Given the description of an element on the screen output the (x, y) to click on. 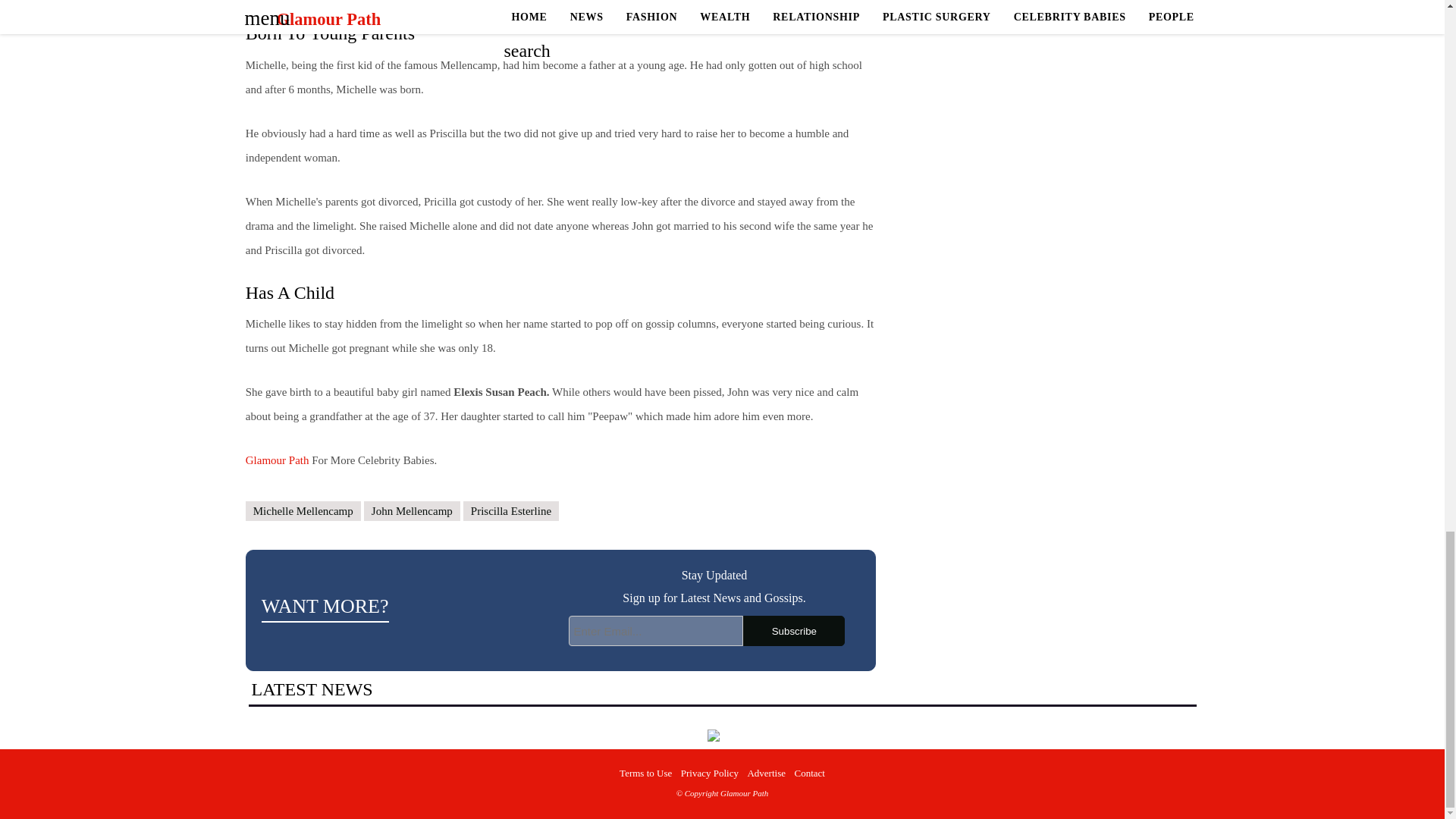
Michelle Mellencamp (303, 511)
John Mellencamp (412, 511)
Terms to Use (645, 772)
Glamour Path (277, 460)
Priscilla Esterline (511, 511)
Subscribe (793, 630)
